Given the description of an element on the screen output the (x, y) to click on. 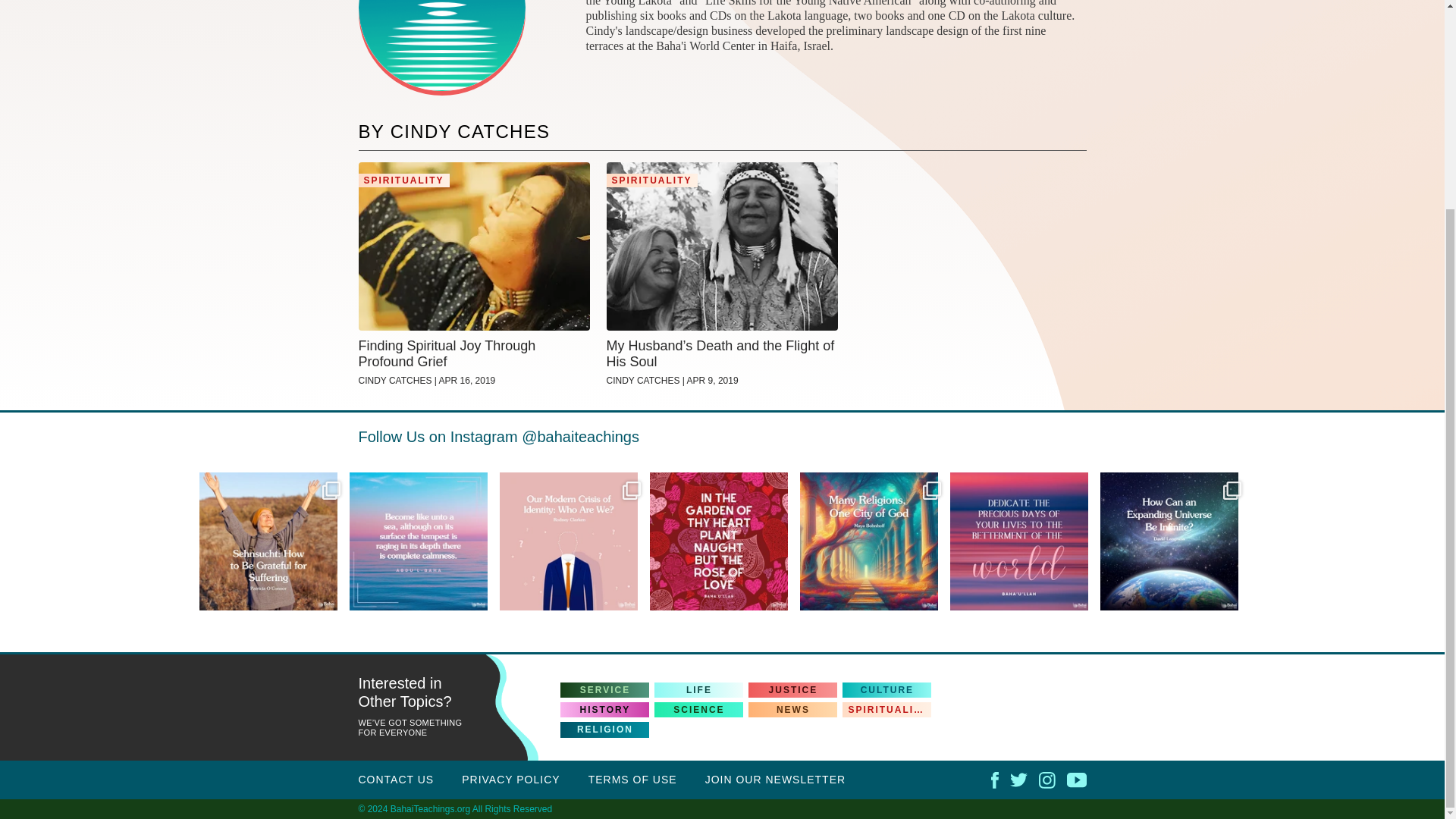
Finding Spiritual Joy Through Profound Grief (473, 354)
SPIRITUALITY (403, 180)
SPIRITUALITY (652, 180)
